Given the description of an element on the screen output the (x, y) to click on. 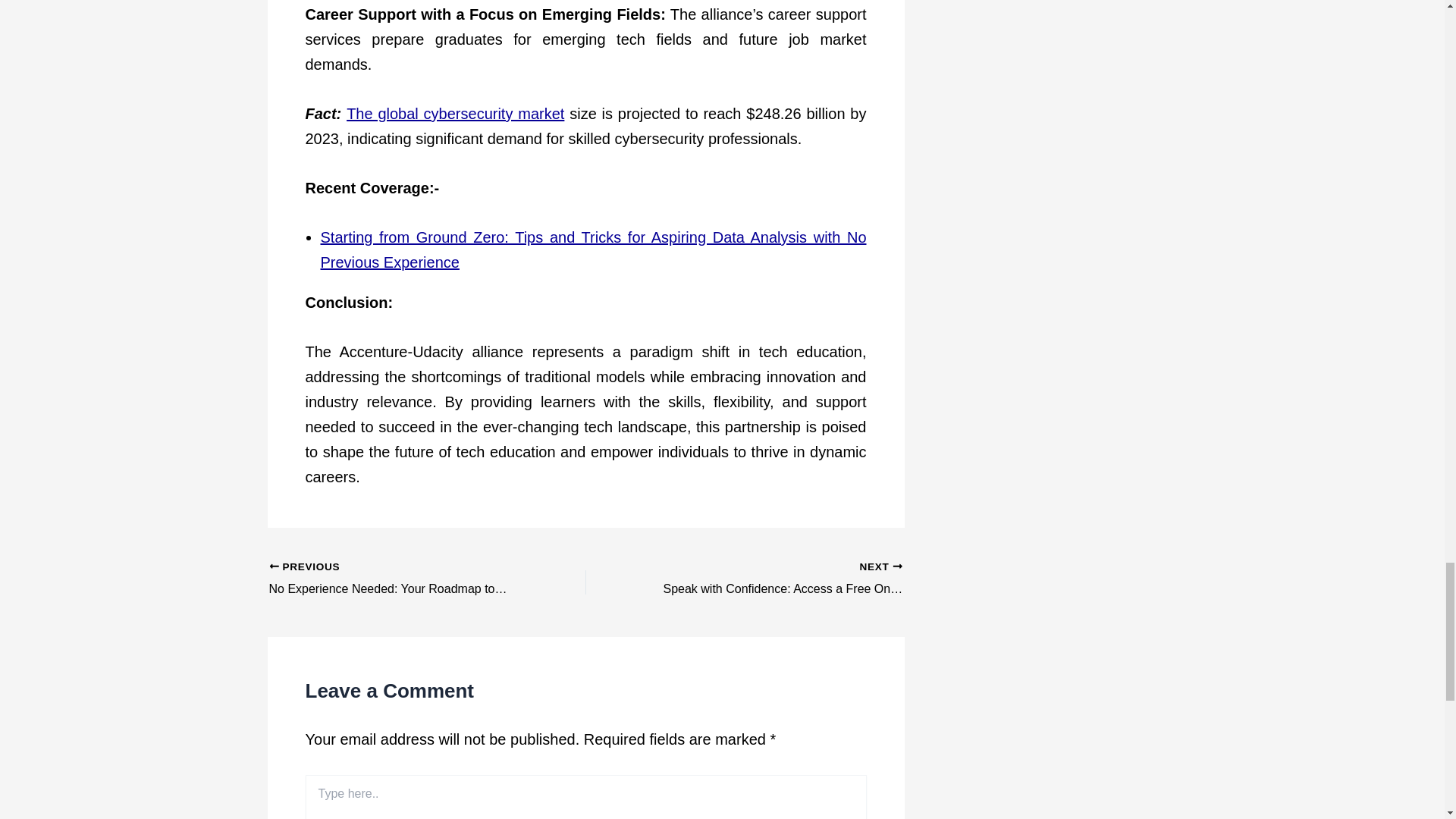
No Experience Needed: Your Roadmap to Data Analysis Career (394, 578)
The global cybersecurity market (455, 113)
